Given the description of an element on the screen output the (x, y) to click on. 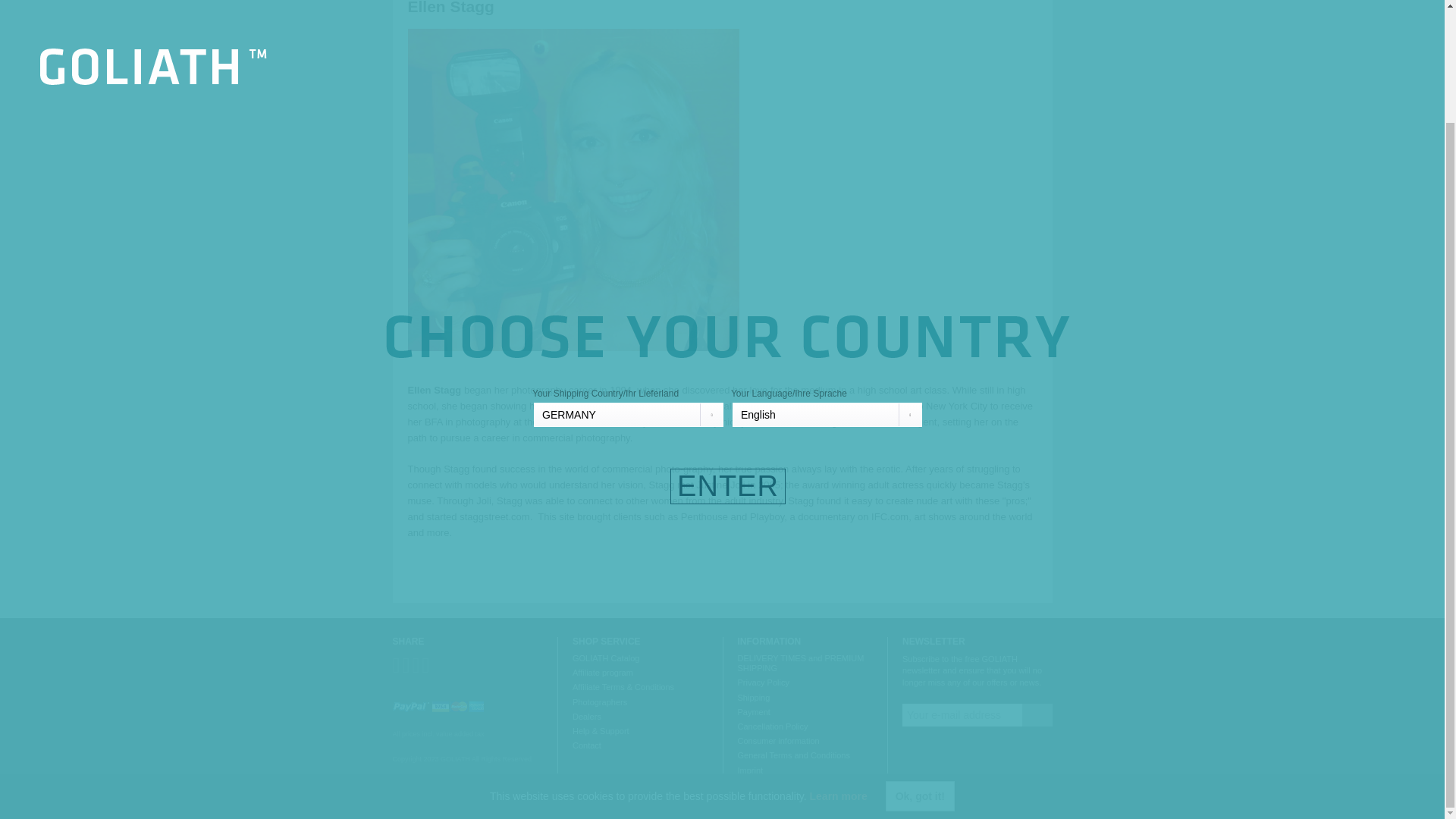
Enter (727, 352)
